Given the description of an element on the screen output the (x, y) to click on. 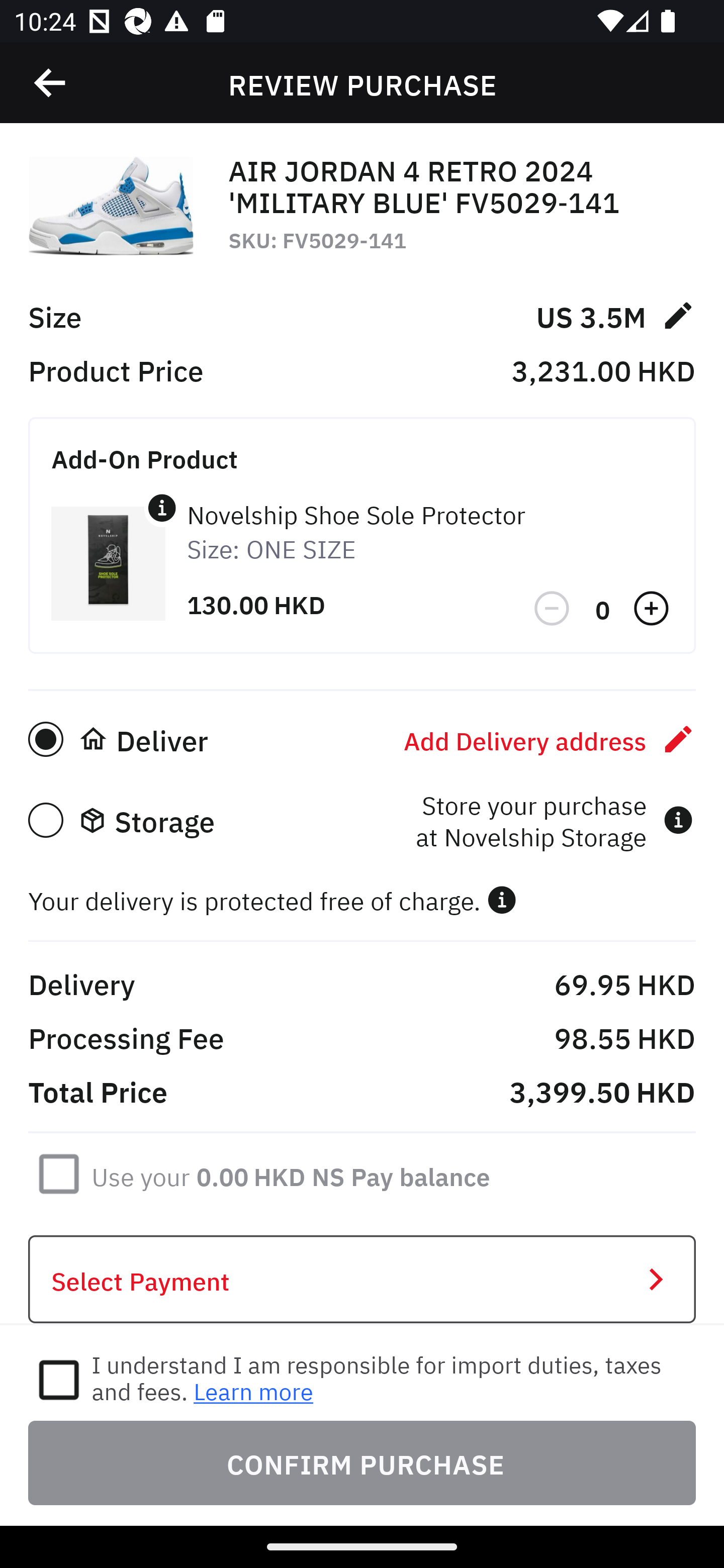
 (50, 83)
US 3.5M 󰏫 (615, 314)
 (162, 507)
 (553, 608)
 (652, 608)
󰚡 Deliver Add Delivery address 󰏫 (361, 739)
Add Delivery address 󰏫 (549, 739)
Store your purchase
at Novelship Storage  (554, 819)
 (501, 899)
Use your 0.00 HKD NS Pay balance (290, 1173)
Select Payment  (361, 1279)
 CONFIRM PURCHASE (361, 1462)
